Given the description of an element on the screen output the (x, y) to click on. 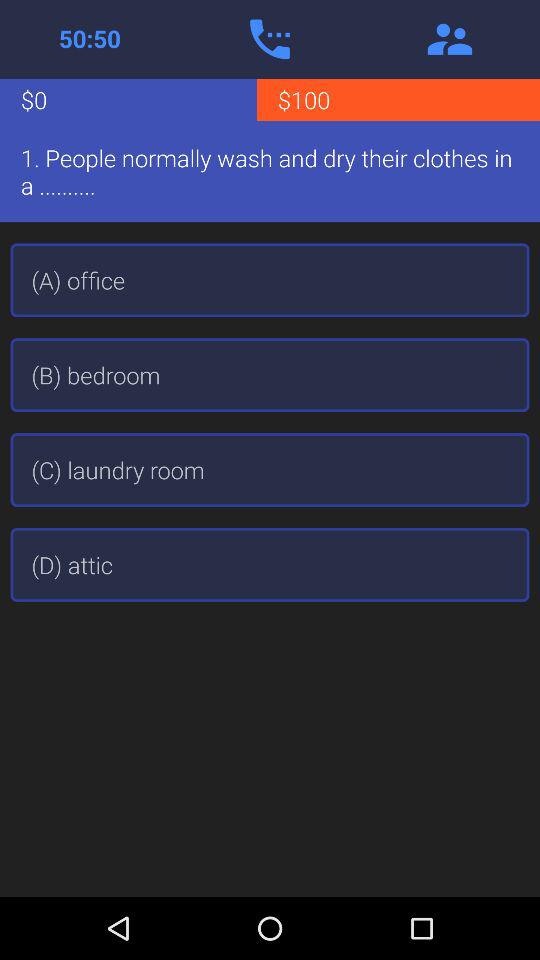
scorekeeper option (90, 39)
